Given the description of an element on the screen output the (x, y) to click on. 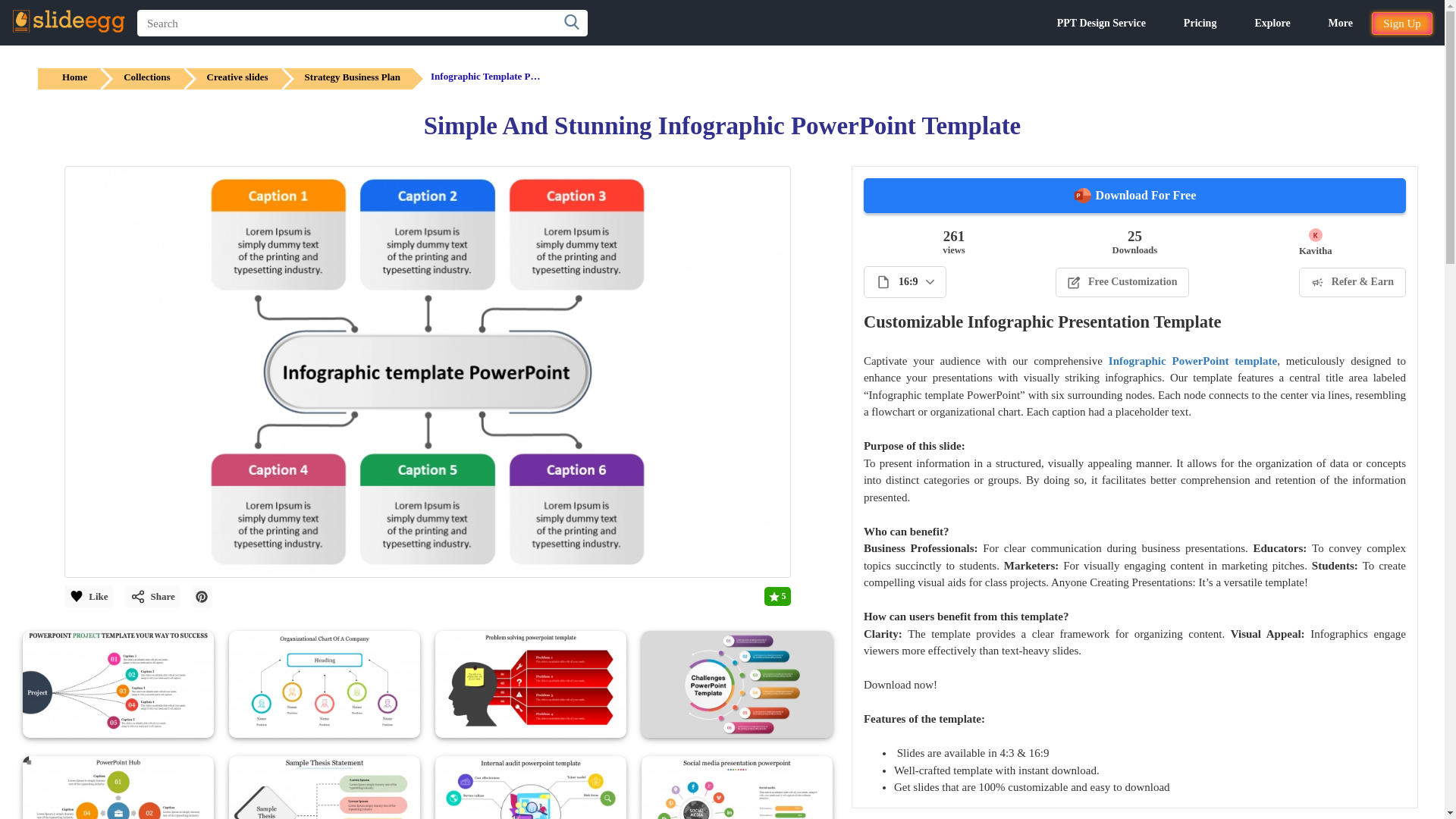
SlideEgg (68, 21)
Explore (1271, 22)
PPT Design Service (1101, 22)
Pricing (1200, 22)
